Given the description of an element on the screen output the (x, y) to click on. 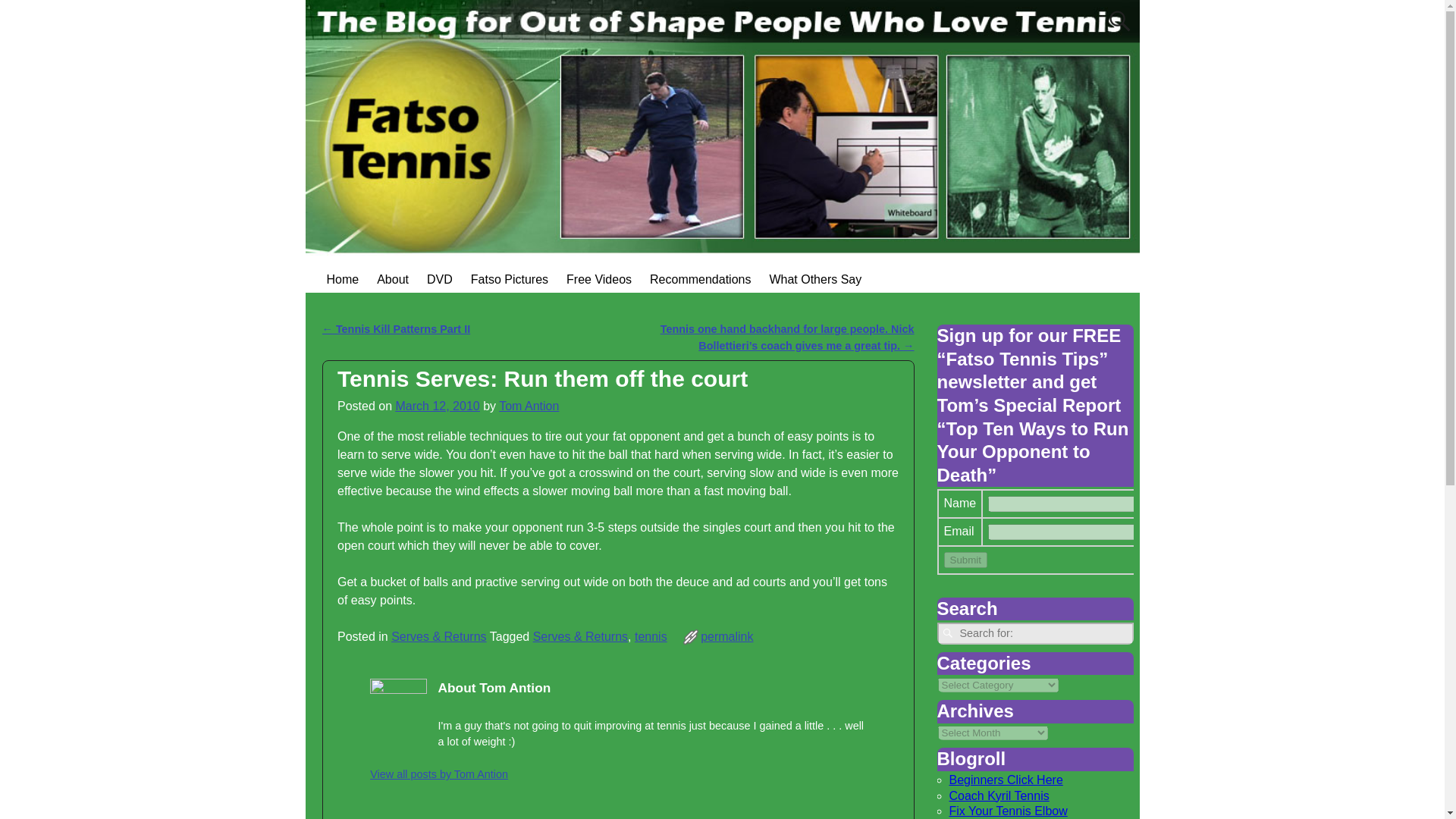
Fatso Pictures (509, 279)
Free Videos (598, 279)
Submit (965, 560)
Beginners Click Here (1005, 779)
Coach Kyril Tennis (999, 795)
tennis (650, 635)
Tom Antion (529, 405)
Recommendations (700, 279)
Fix Your Tennis Elbow (1008, 810)
What Others Say (815, 279)
